Given the description of an element on the screen output the (x, y) to click on. 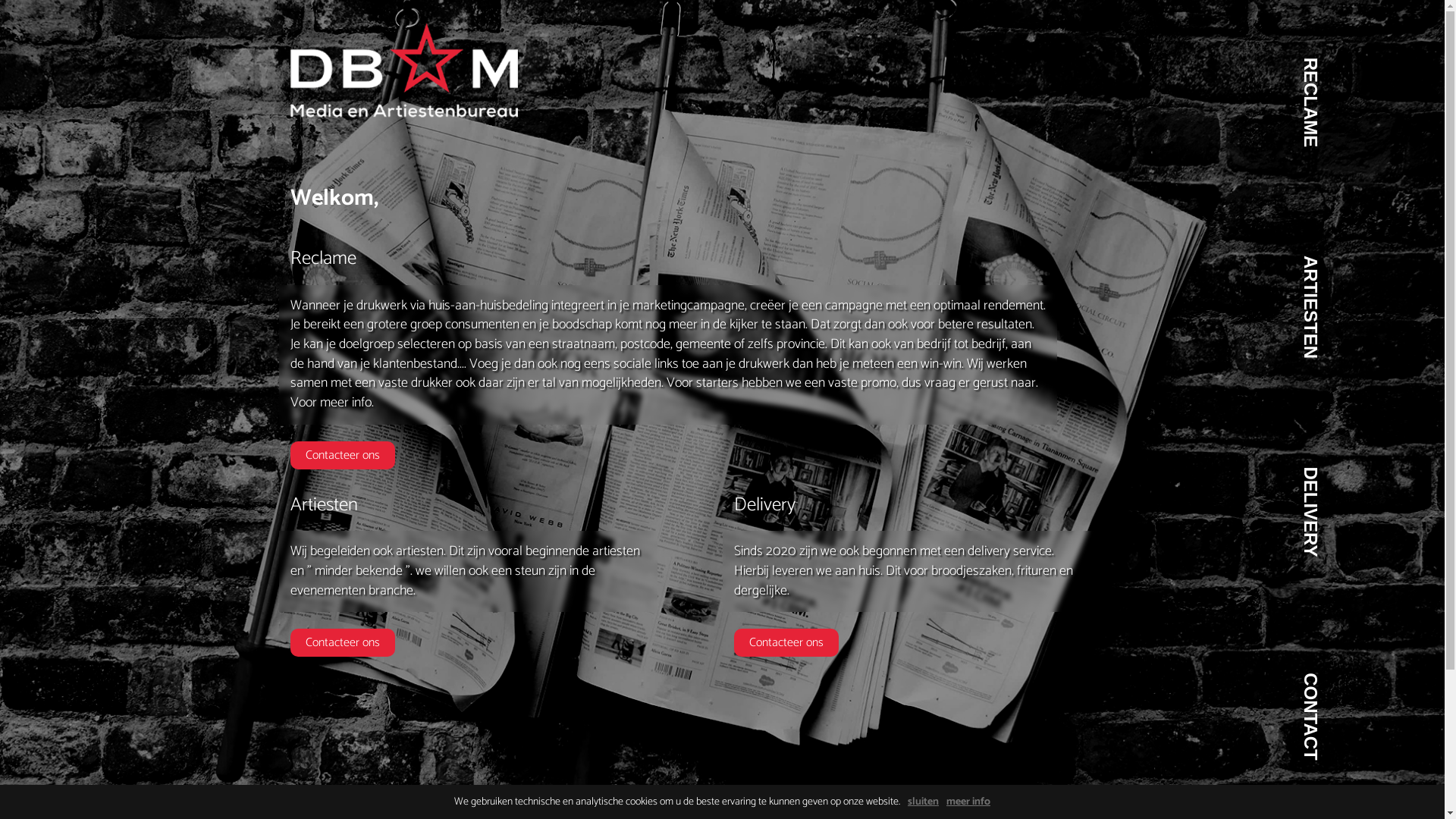
RECLAME Element type: text (1341, 70)
meer info Element type: text (968, 801)
ARTIESTEN Element type: text (1348, 267)
Contacteer ons Element type: text (341, 455)
DELIVERY Element type: text (1341, 478)
sluiten Element type: text (922, 801)
CONTACT Element type: text (1340, 685)
Contacteer ons Element type: text (341, 642)
Contacteer ons Element type: text (786, 642)
